Given the description of an element on the screen output the (x, y) to click on. 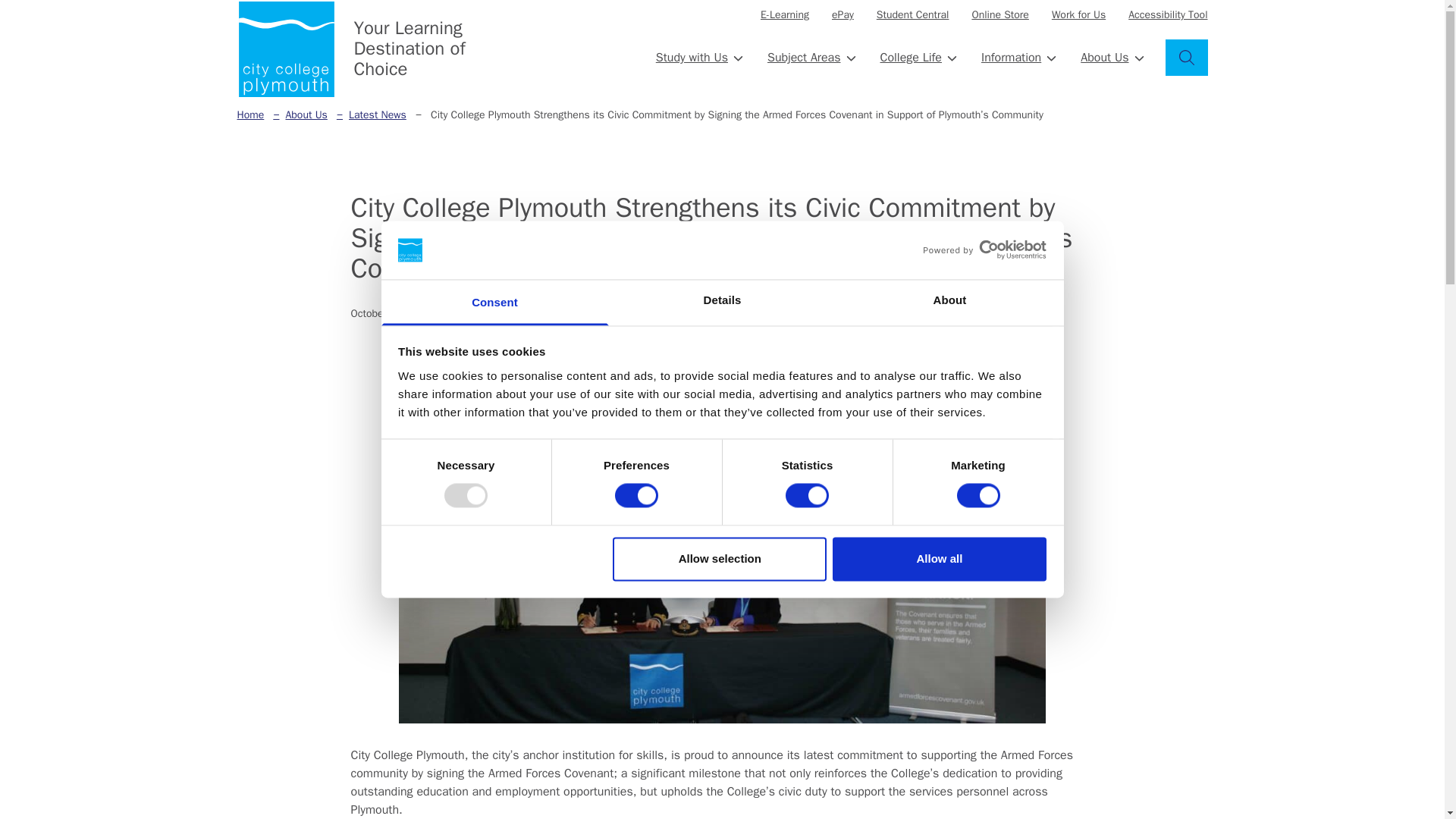
Details (721, 302)
About (948, 302)
Consent (494, 302)
